Given the description of an element on the screen output the (x, y) to click on. 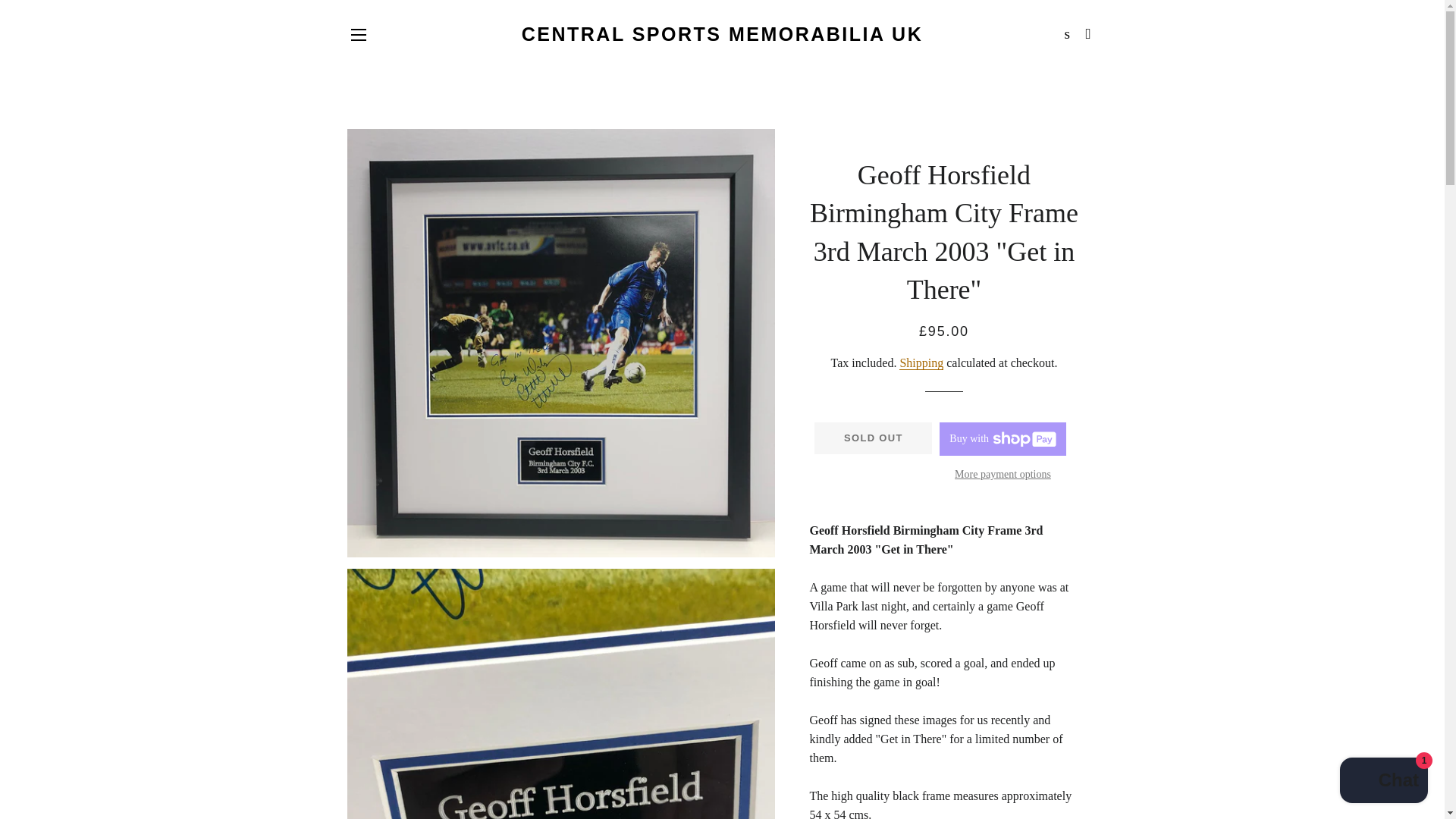
CENTRAL SPORTS MEMORABILIA UK (721, 34)
Shopify online store chat (1383, 781)
SITE NAVIGATION (358, 34)
